Given the description of an element on the screen output the (x, y) to click on. 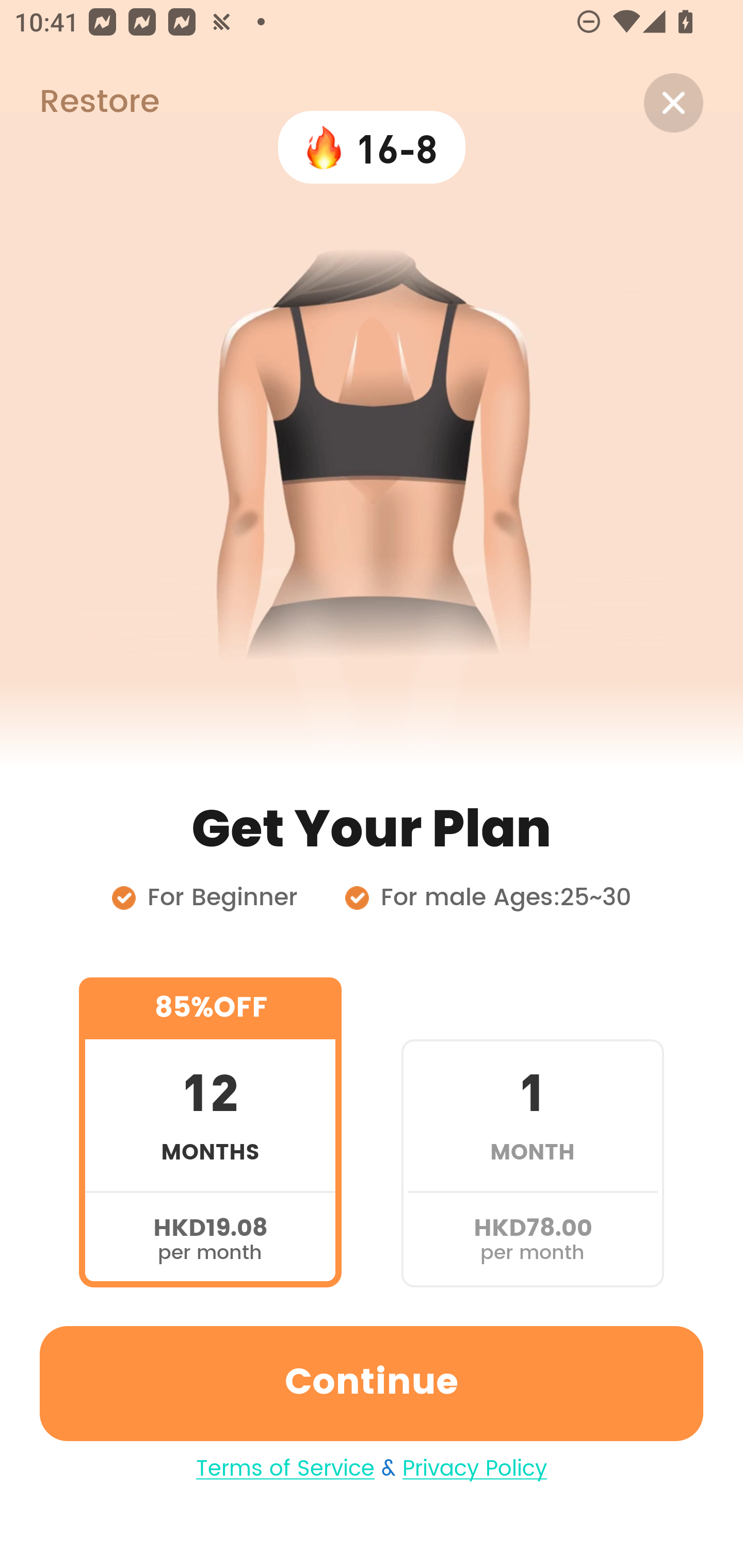
Restore (79, 102)
85%OFF 12 MONTHS per month HKD19.08 (209, 1131)
1 MONTH per month HKD78.00 (532, 1131)
Continue (371, 1383)
